Given the description of an element on the screen output the (x, y) to click on. 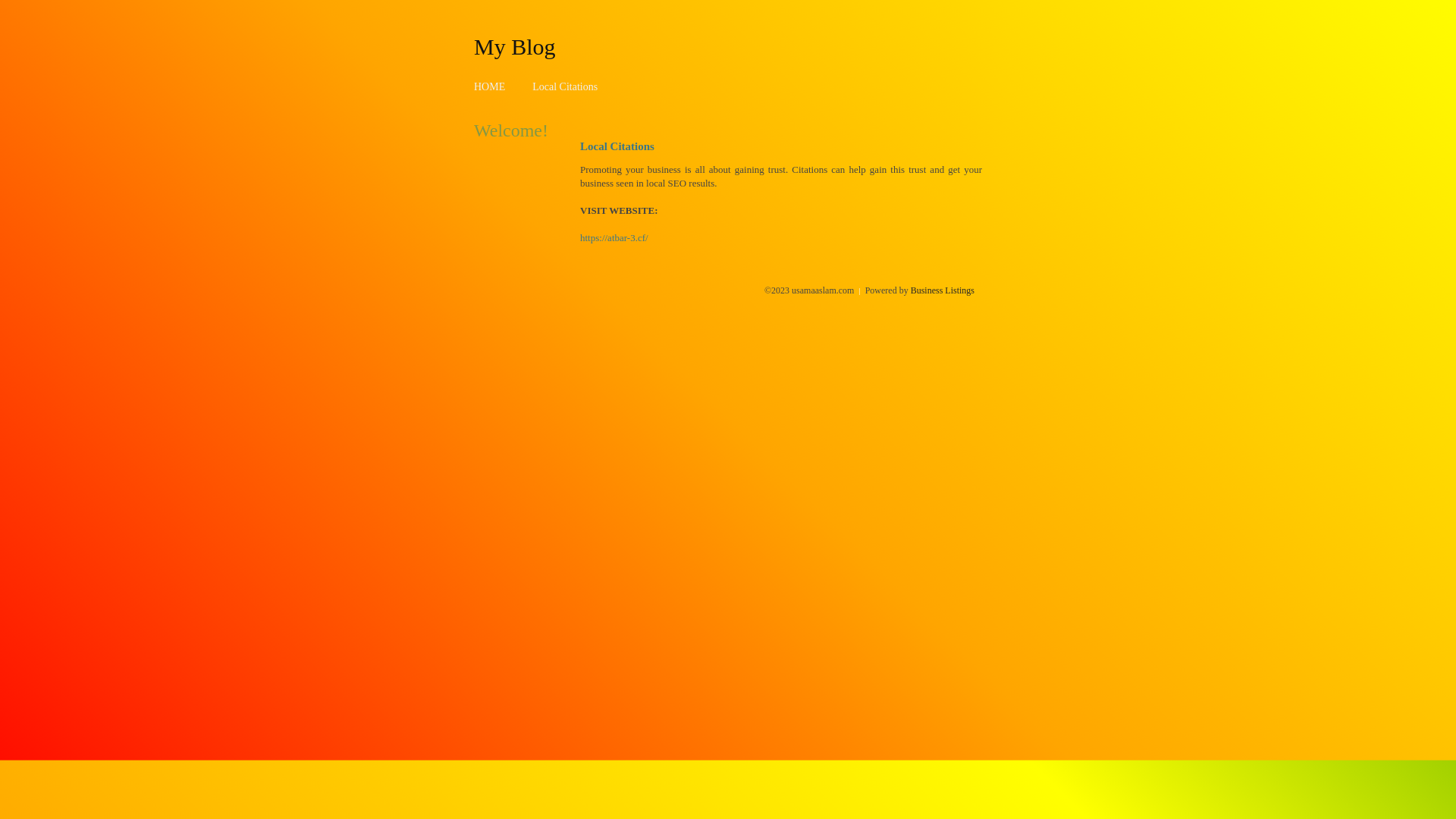
Business Listings Element type: text (942, 290)
https://atbar-3.cf/ Element type: text (614, 237)
Local Citations Element type: text (564, 86)
HOME Element type: text (489, 86)
My Blog Element type: text (514, 46)
